Given the description of an element on the screen output the (x, y) to click on. 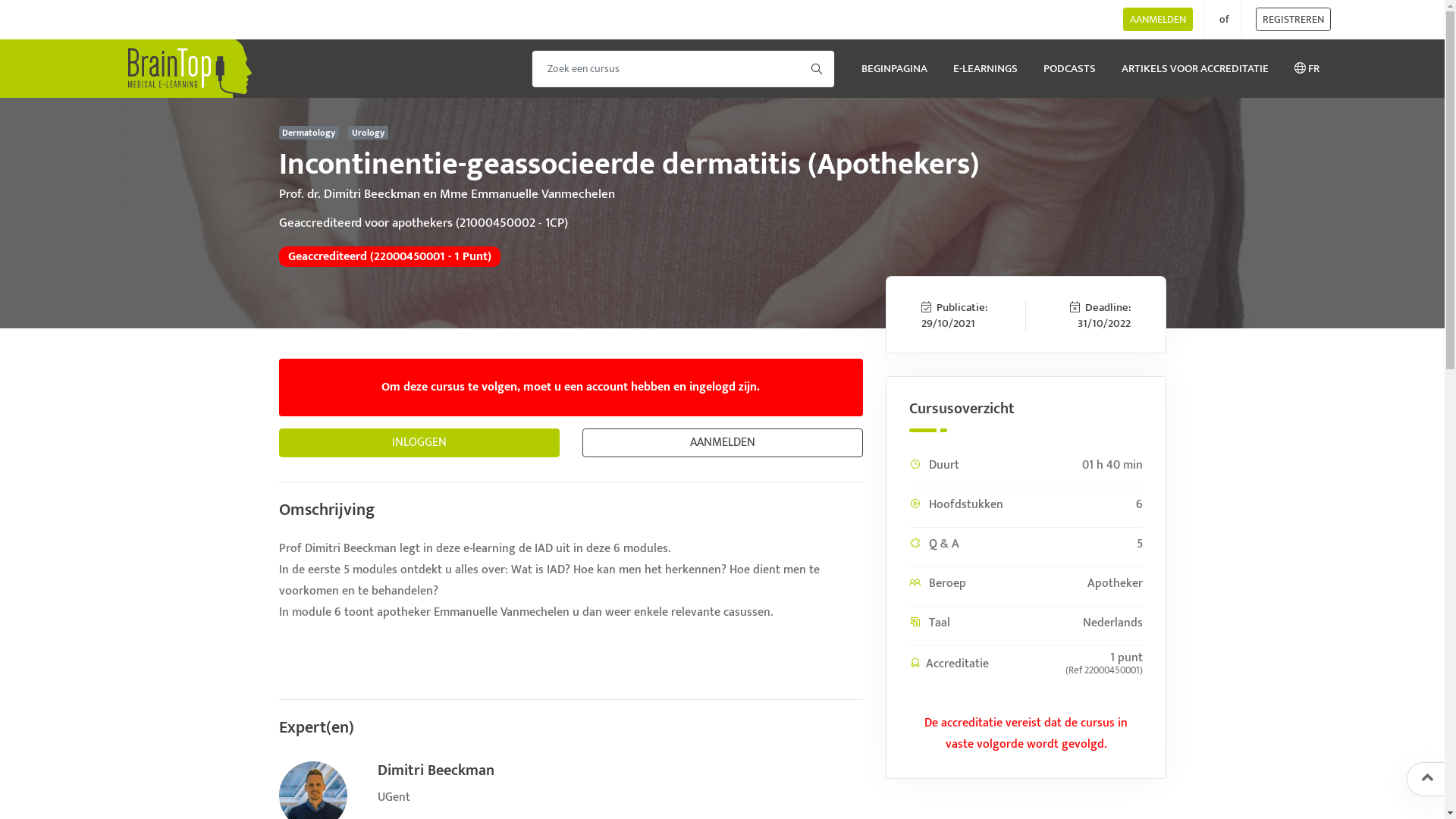
FR Element type: text (1306, 81)
REGISTREREN Element type: text (1292, 19)
INLOGGEN Element type: text (419, 442)
AANMELDEN Element type: text (722, 442)
AANMELDEN Element type: text (1157, 19)
PODCASTS Element type: text (1069, 81)
ARTIKELS VOOR ACCREDITATIE Element type: text (1194, 81)
BEGINPAGINA Element type: text (894, 81)
E-LEARNINGS Element type: text (985, 81)
Go top Element type: hover (1427, 777)
